Given the description of an element on the screen output the (x, y) to click on. 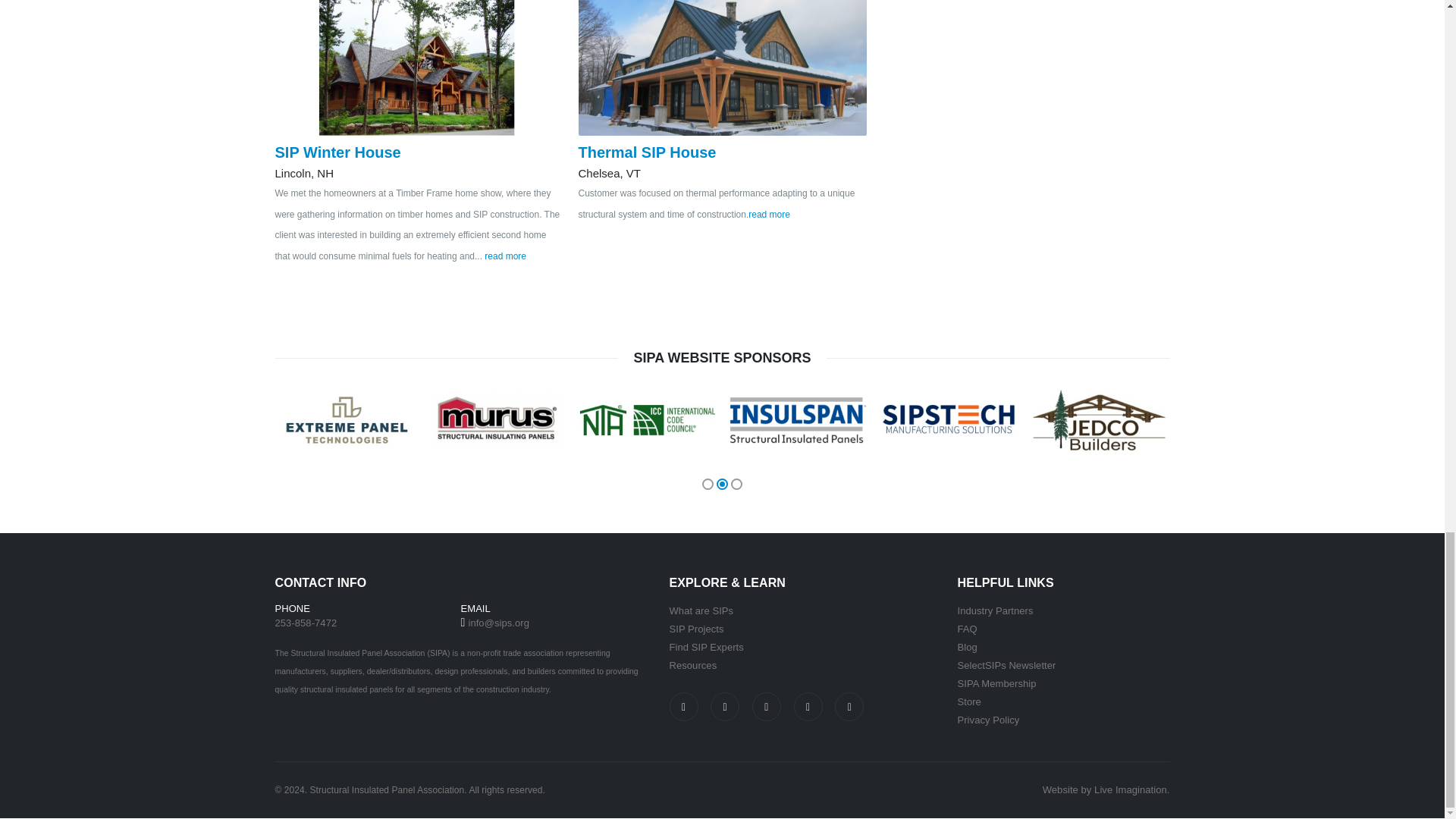
YouTube (848, 706)
LinkedIn (807, 706)
Facebook (682, 706)
Twitter (766, 706)
Instagram (724, 706)
